Given the description of an element on the screen output the (x, y) to click on. 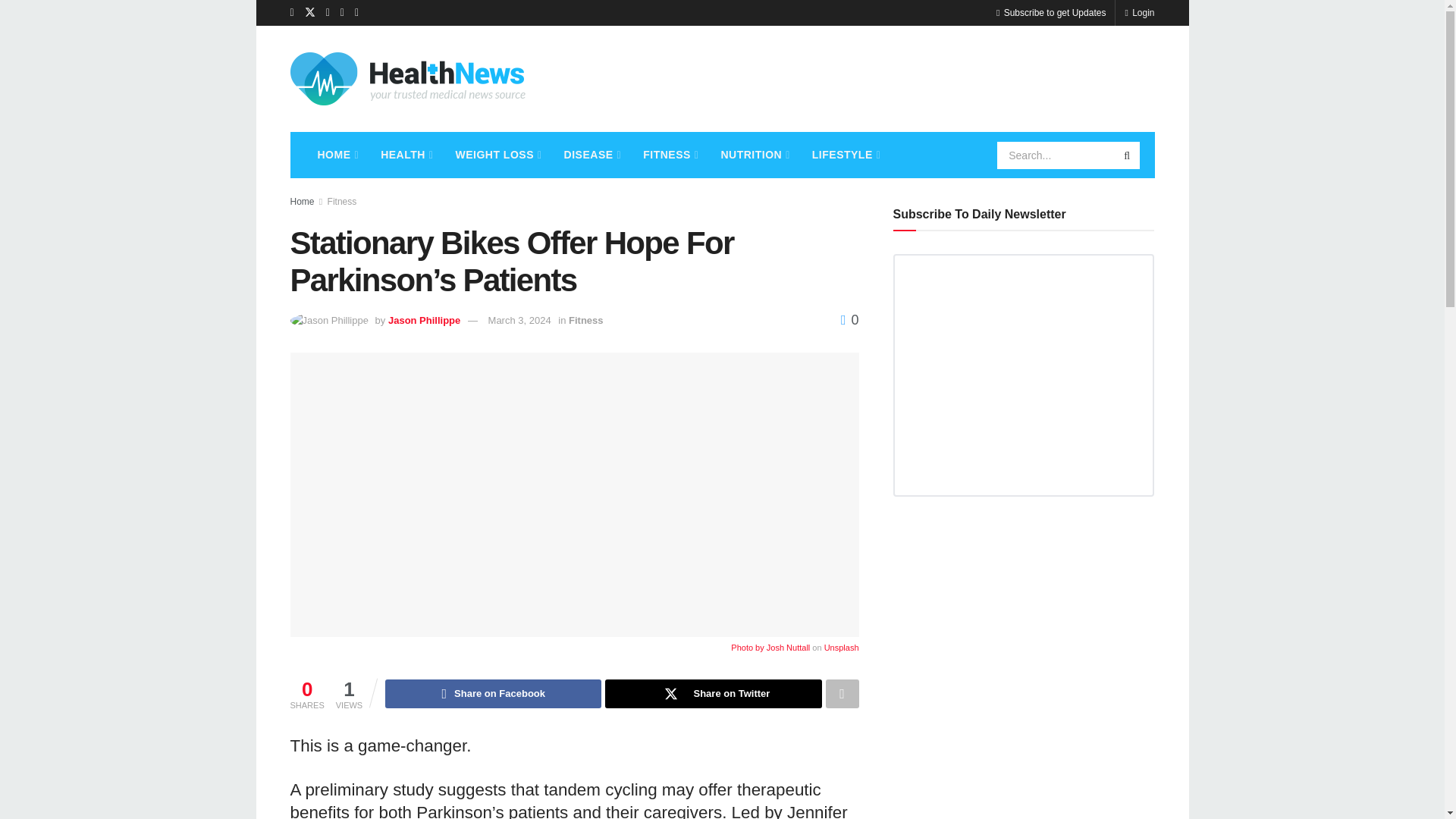
Subscribe to get Updates (1050, 12)
HEALTH (405, 154)
HOME (336, 154)
Login (1139, 12)
WEIGHT LOSS (496, 154)
